Given the description of an element on the screen output the (x, y) to click on. 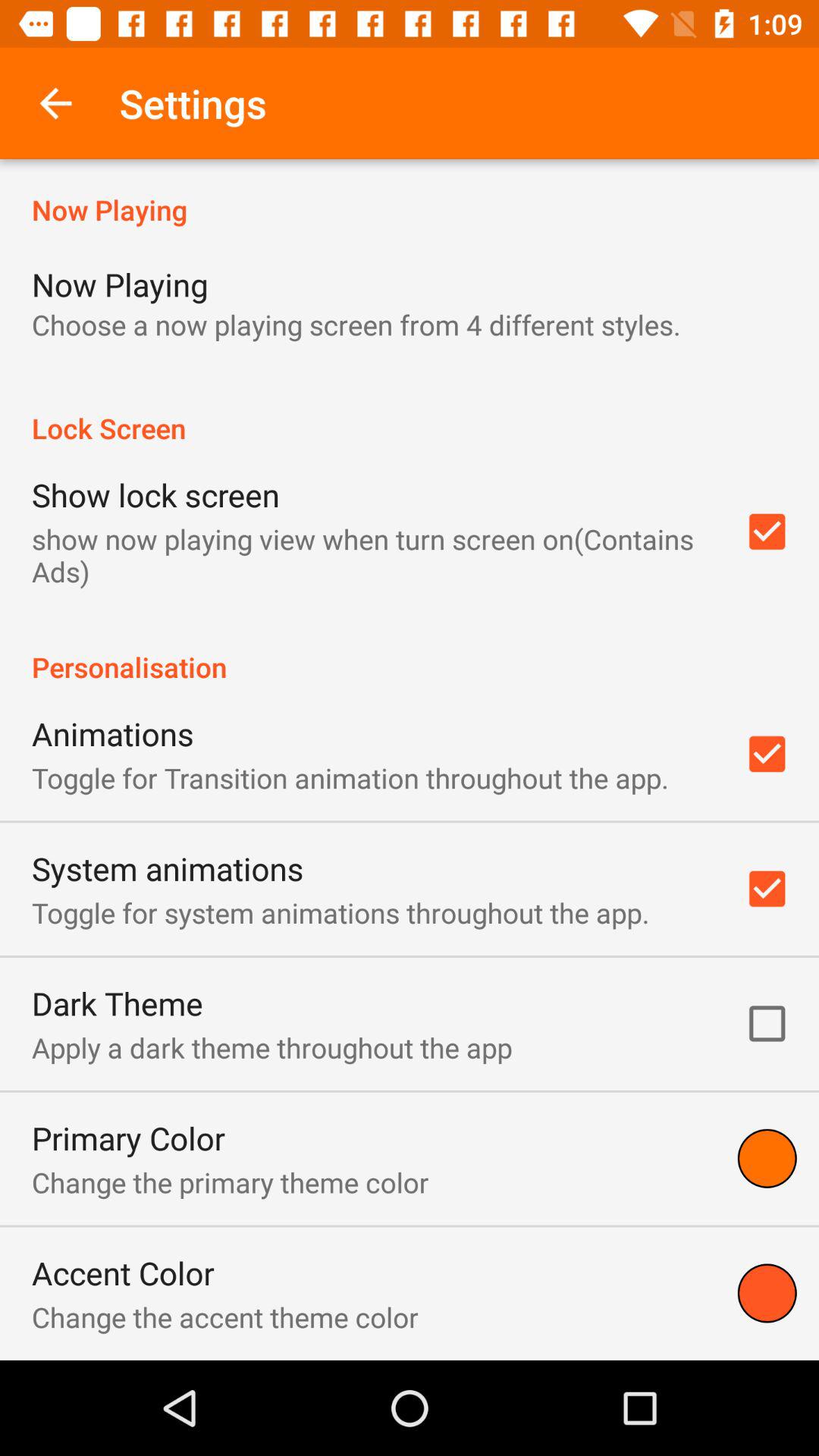
launch the item below the show now playing item (409, 650)
